Given the description of an element on the screen output the (x, y) to click on. 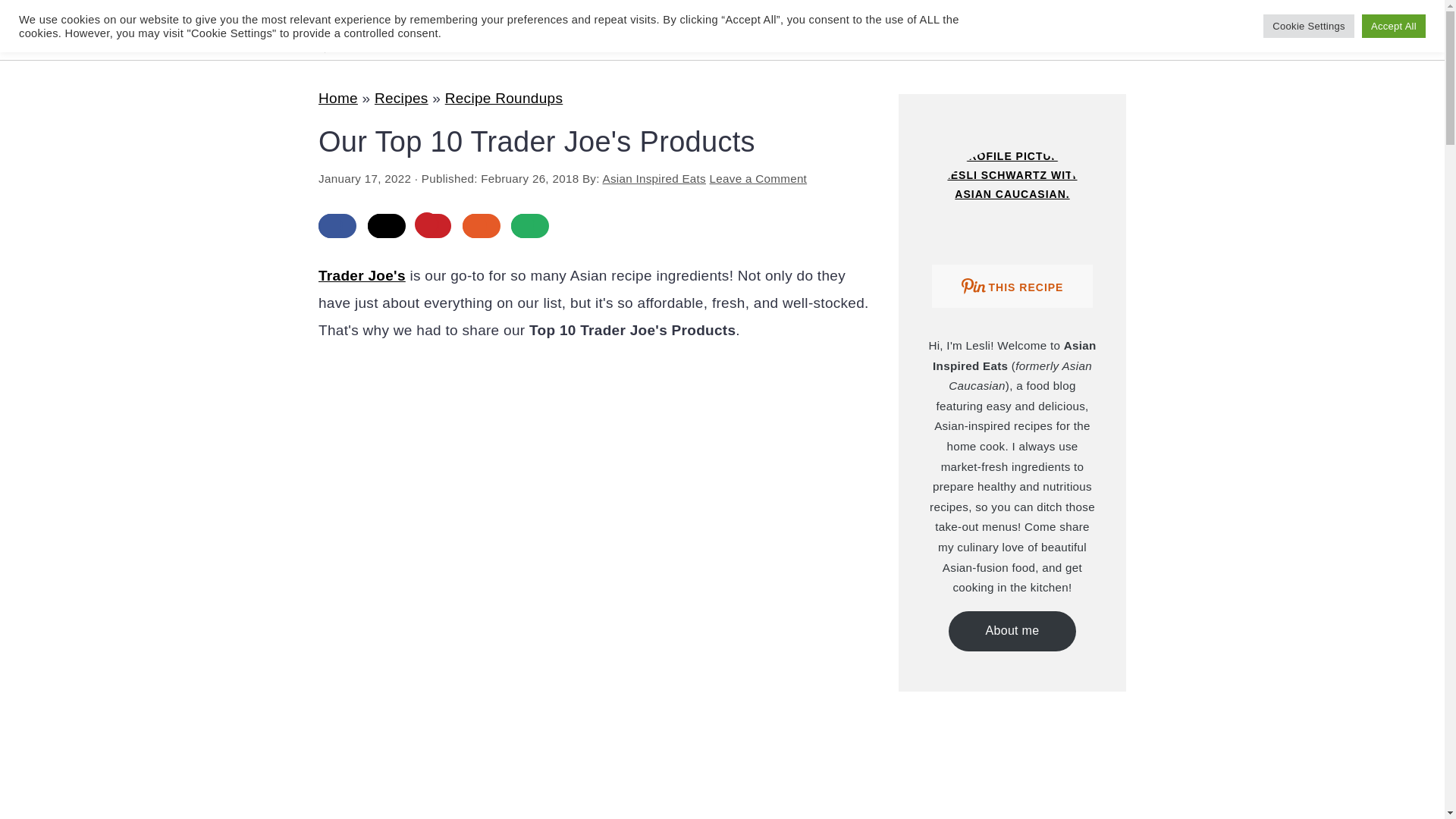
RECIPES (555, 27)
Asian Inspired Eats (654, 178)
Home (338, 98)
CONTACT (733, 27)
Recipe Roundups (504, 98)
Share on X (387, 225)
Leave a Comment (759, 178)
Recipes (401, 98)
Share on Facebook (337, 225)
